Given the description of an element on the screen output the (x, y) to click on. 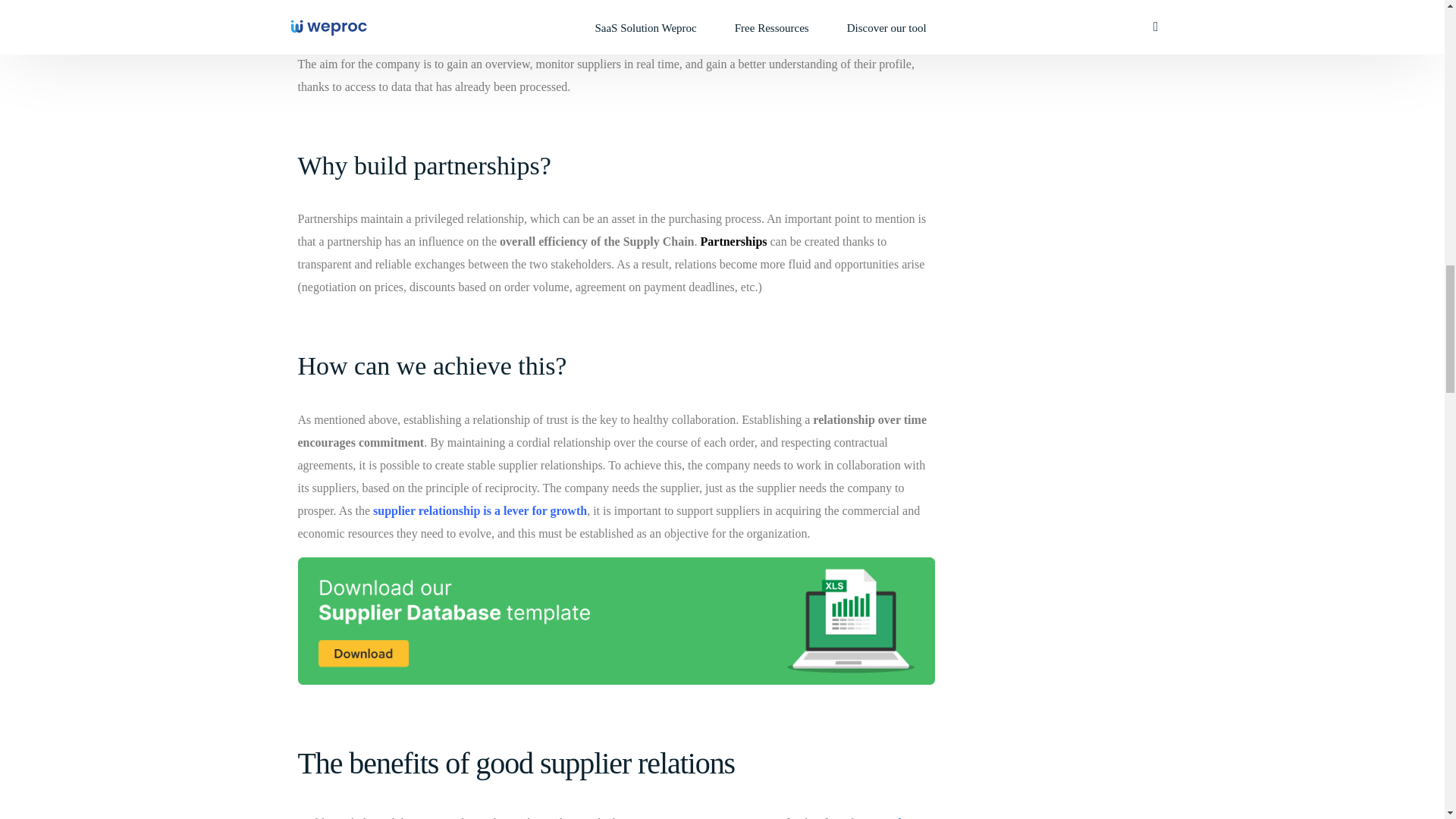
Partnerships (732, 241)
supplier relationship is a lever for growth (477, 510)
optimize this supplier relationship with an SRM (610, 29)
